Given the description of an element on the screen output the (x, y) to click on. 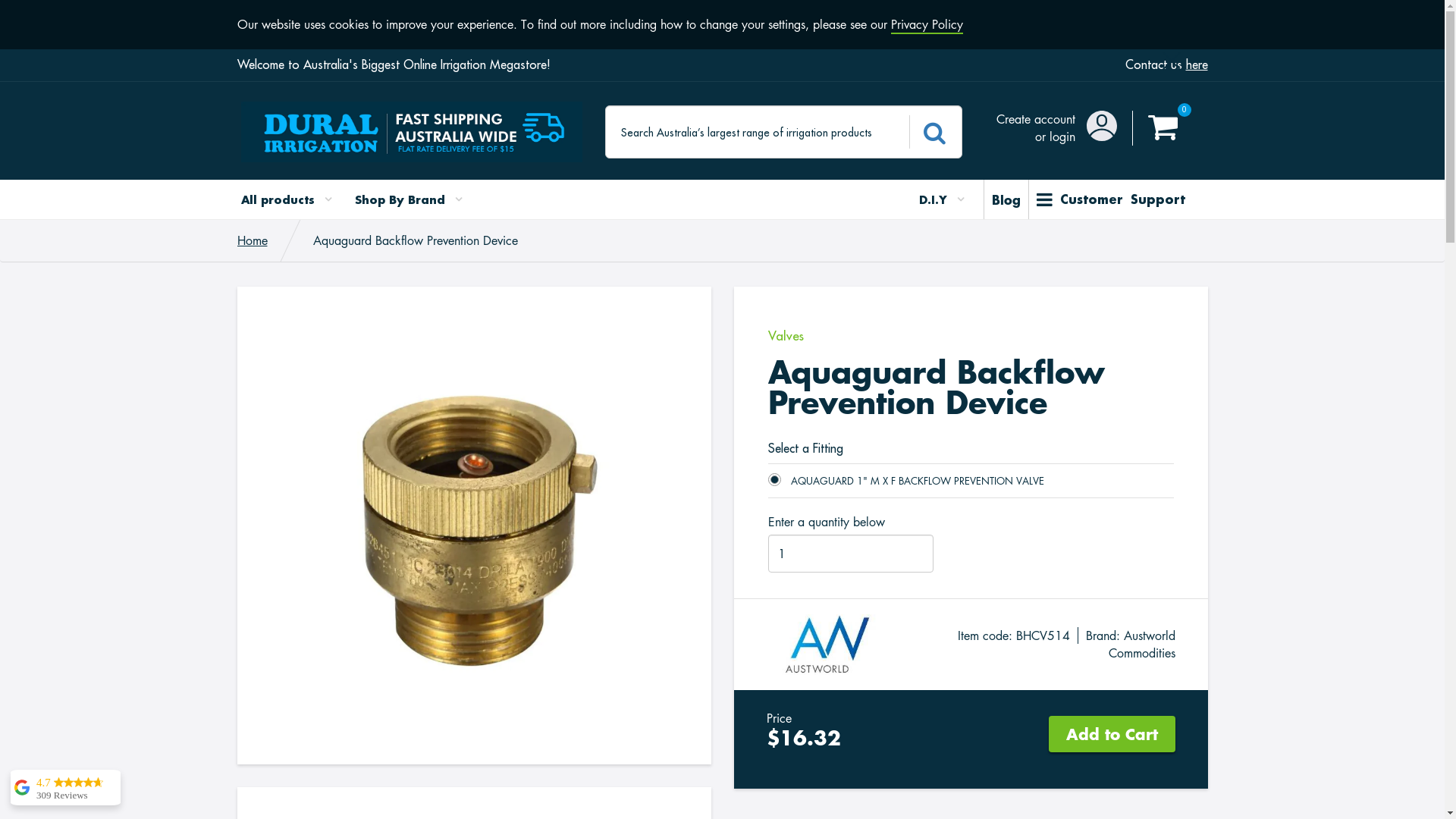
Add to Cart Element type: text (1111, 733)
All products Element type: text (292, 199)
Blog Element type: text (1005, 198)
Customer  
Support Element type: text (1110, 199)
Home Element type: text (251, 240)
Search Element type: text (933, 131)
Privacy Policy Element type: text (926, 24)
Shop By Brand Element type: text (408, 199)
0 Element type: text (1162, 126)
Austworld Commodities Element type: text (1141, 644)
Create account
or login Element type: text (1035, 127)
D.I.Y Element type: text (935, 199)
here Element type: text (1197, 64)
